Given the description of an element on the screen output the (x, y) to click on. 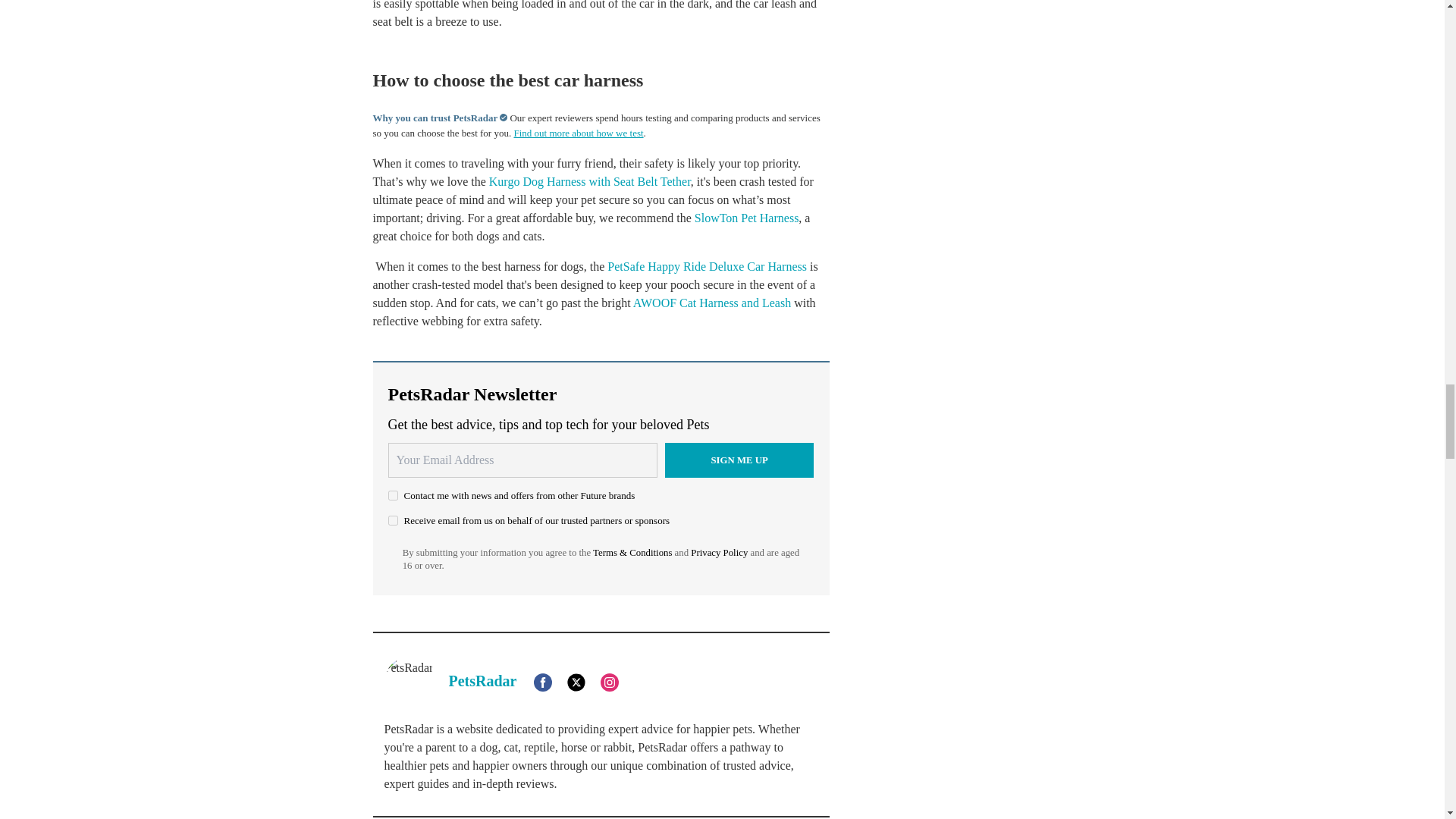
on (392, 520)
Sign me up (739, 460)
on (392, 495)
